Given the description of an element on the screen output the (x, y) to click on. 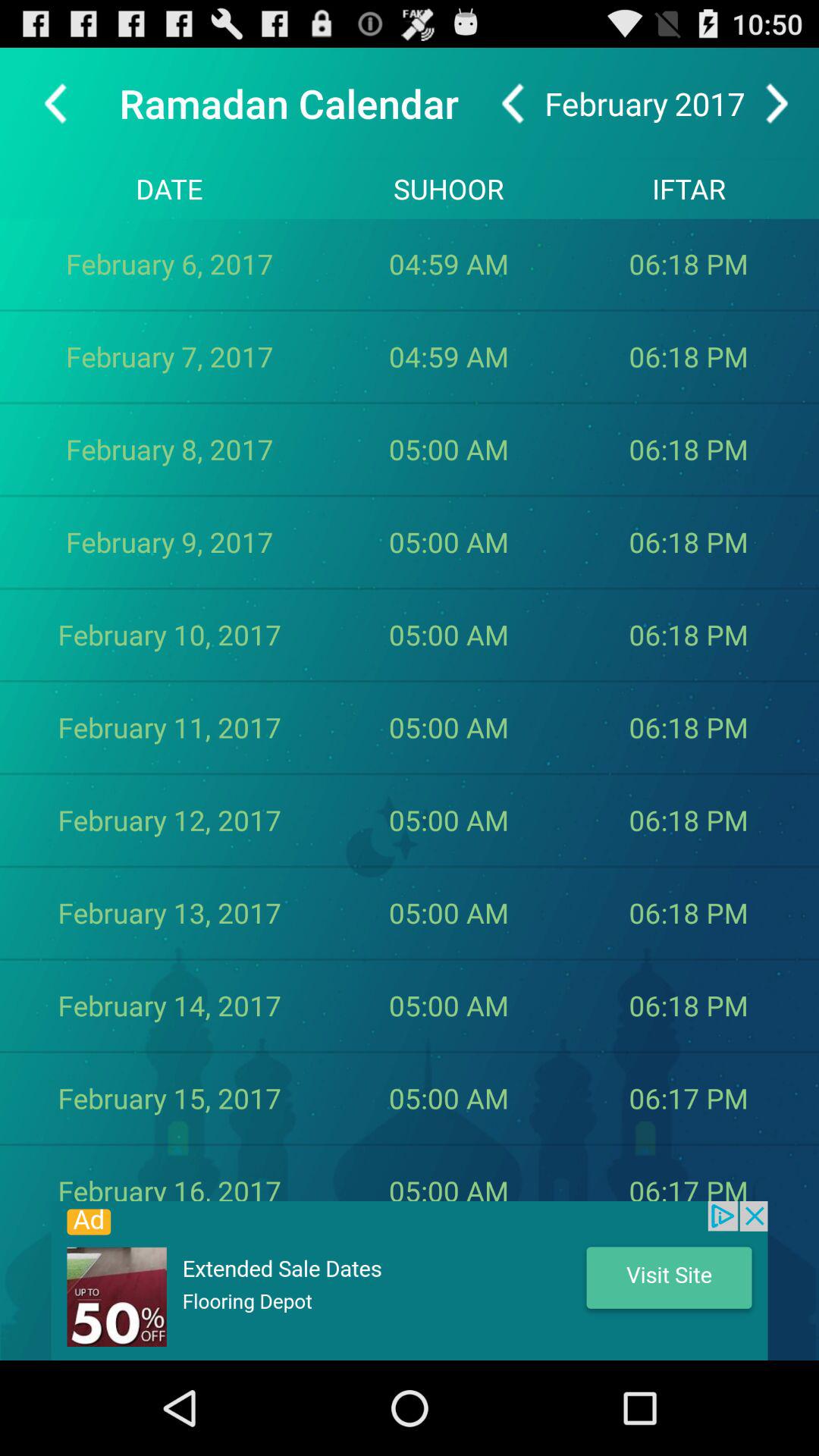
change month (776, 103)
